Given the description of an element on the screen output the (x, y) to click on. 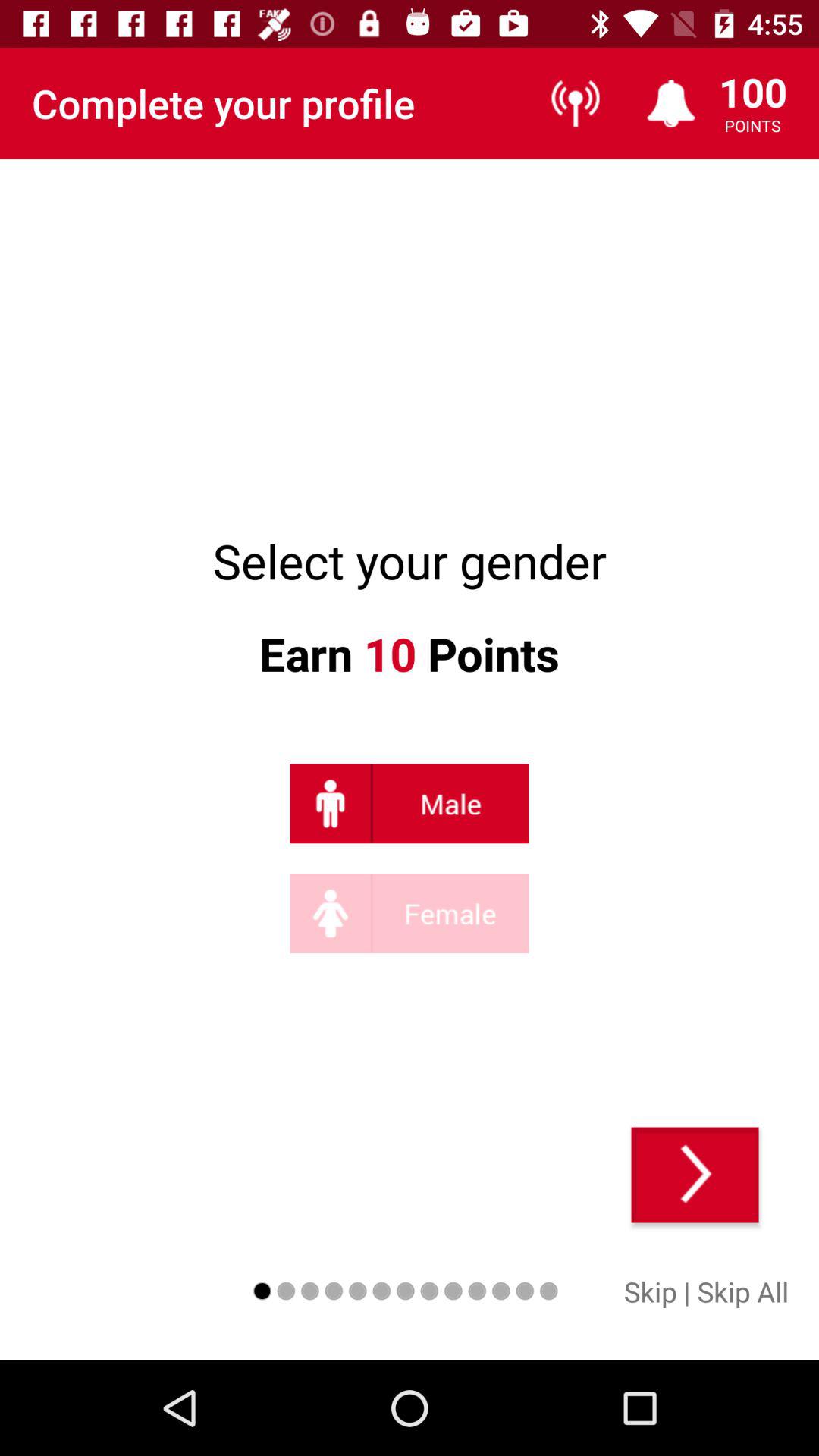
select female gender (409, 913)
